Given the description of an element on the screen output the (x, y) to click on. 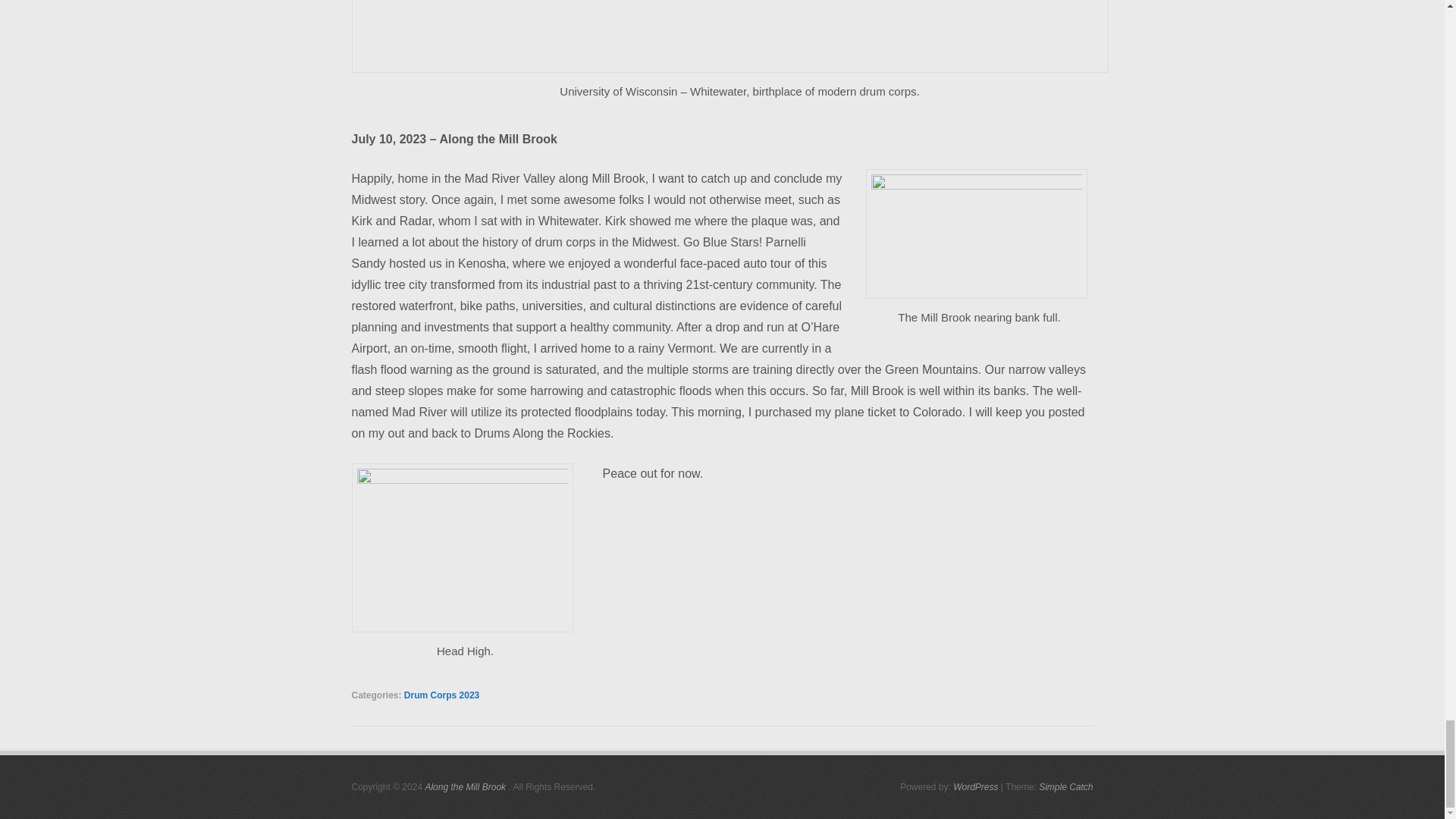
WordPress (975, 787)
Along the Mill Brook (465, 787)
Drum Corps 2023 (441, 695)
Along the Mill Brook (465, 787)
Simple Catch (1066, 787)
Simple Catch (1066, 787)
WordPress (975, 787)
